Given the description of an element on the screen output the (x, y) to click on. 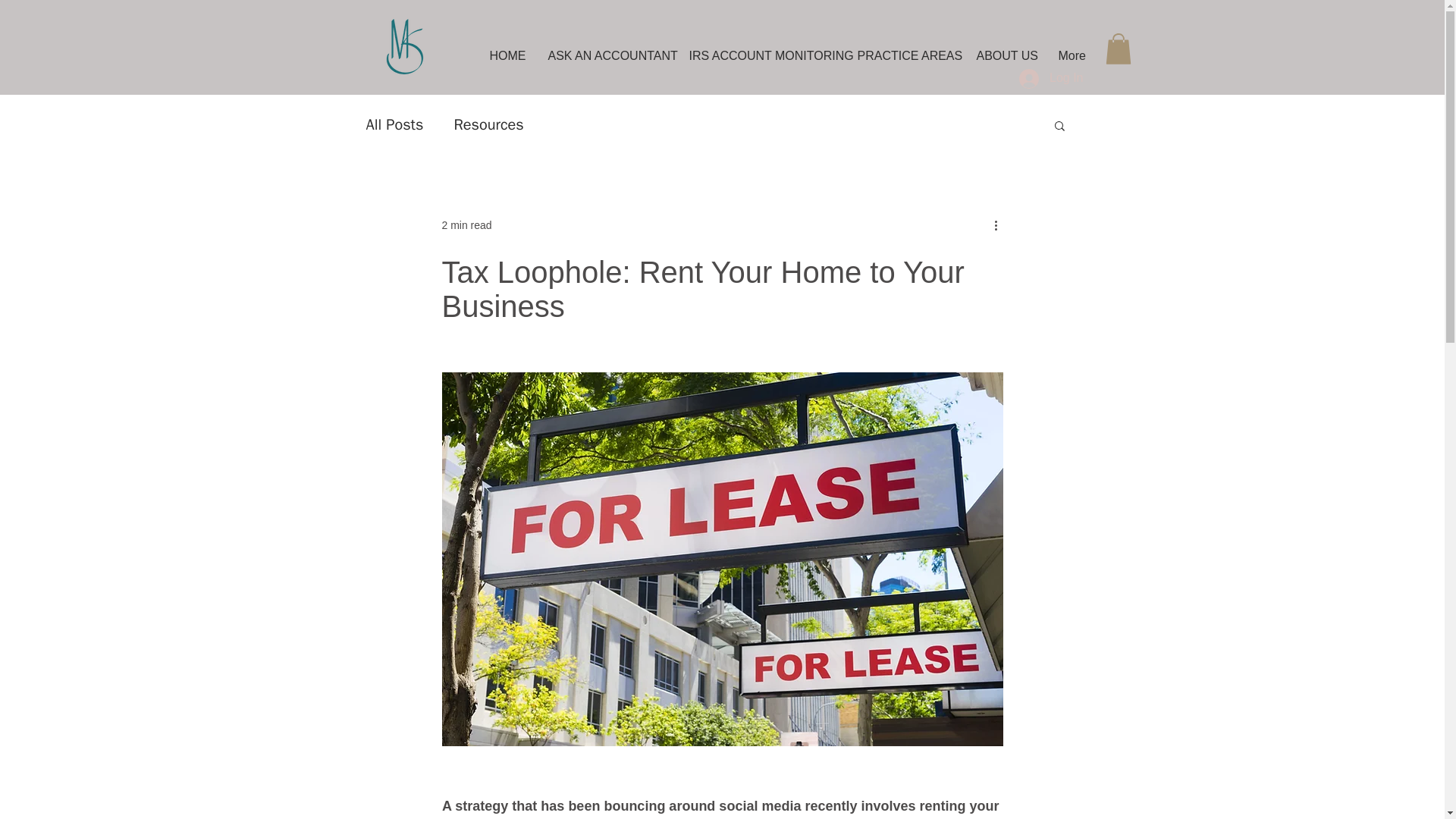
HOME (505, 49)
PRACTICE AREAS (902, 49)
All Posts (394, 124)
ASK AN ACCOUNTANT (604, 49)
Resources (487, 124)
2 min read (466, 224)
ABOUT US (1003, 49)
Log In (1051, 78)
IRS ACCOUNT MONITORING (759, 49)
